Given the description of an element on the screen output the (x, y) to click on. 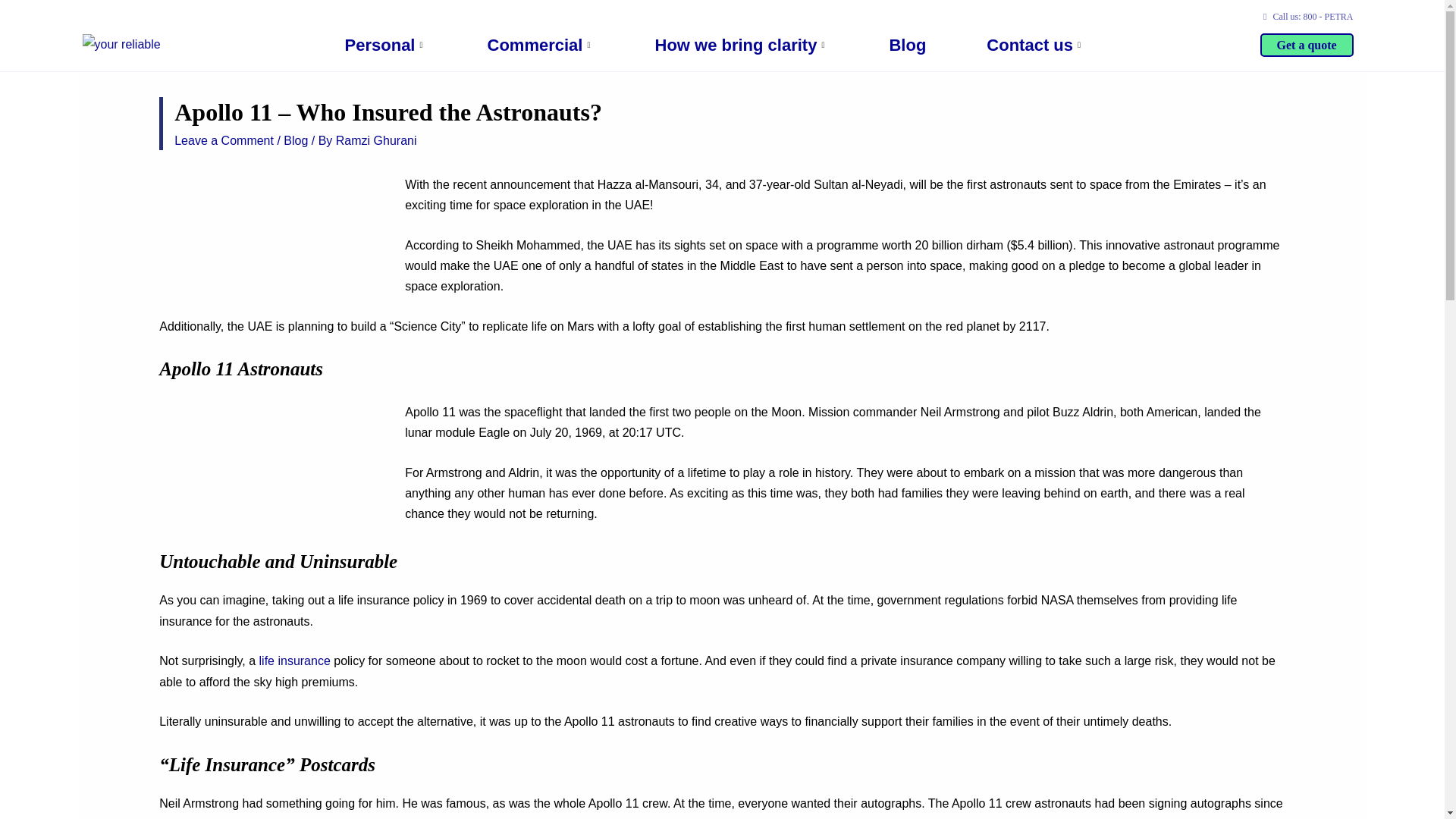
Call us: 800 - PETRA (1305, 17)
View all posts by Ramzi Ghurani (376, 140)
Personal (385, 45)
Apollo 11 - Who Insured the Astronauts? (272, 472)
Commercial (540, 45)
Apollo 11 - Who Insured the Astronauts? (272, 236)
How we bring clarity (741, 45)
